Given the description of an element on the screen output the (x, y) to click on. 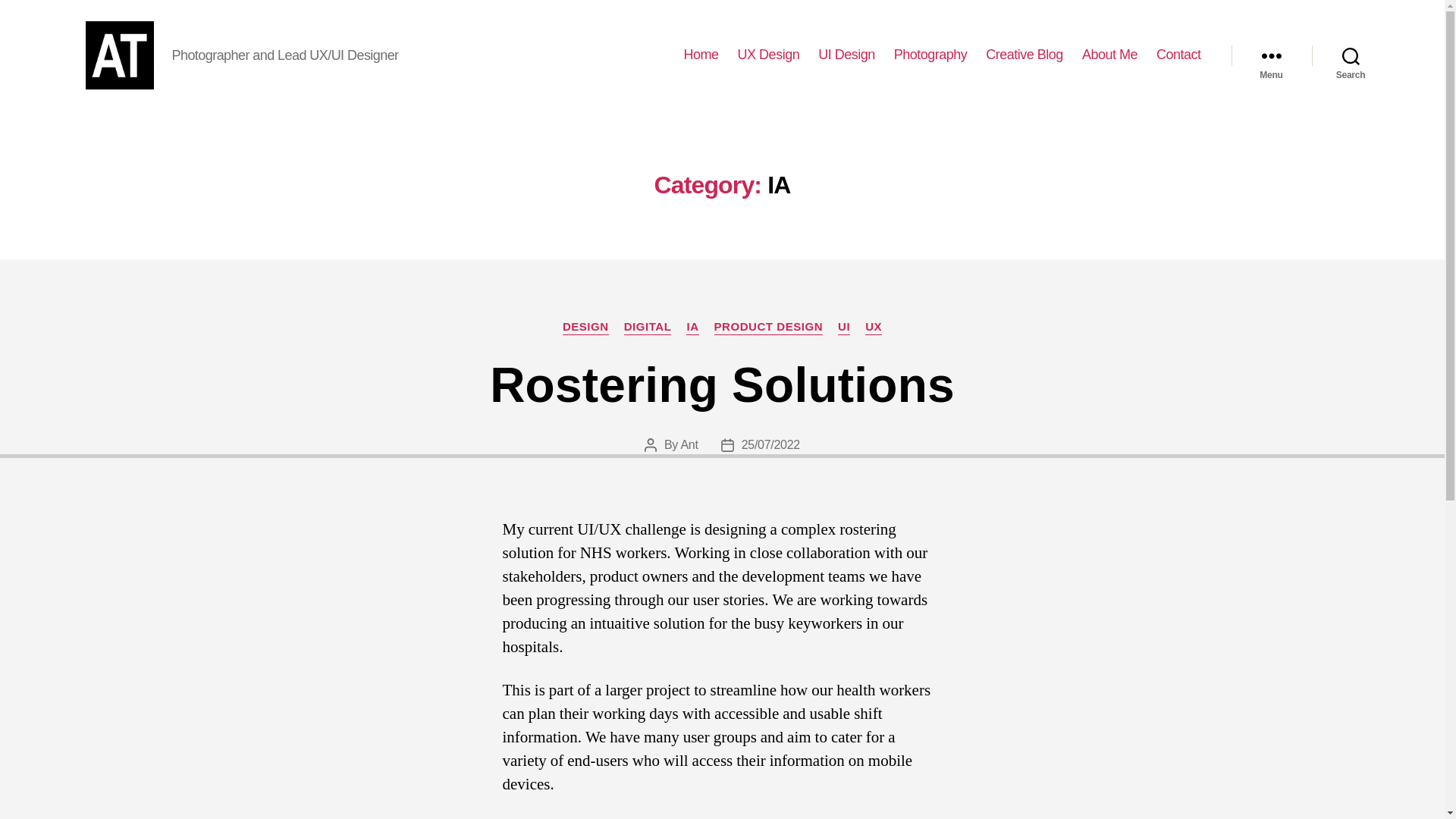
Welcome (701, 54)
Photography (930, 54)
Search (1350, 55)
PRODUCT DESIGN (769, 327)
UX (873, 327)
Rostering Solutions (722, 384)
Ant (688, 444)
Contact (1178, 54)
Menu (1271, 55)
UI Design (846, 54)
UX Design (768, 54)
DIGITAL (647, 327)
Creative Blog (1023, 54)
About Ant Tyler (1109, 54)
Home (701, 54)
